Given the description of an element on the screen output the (x, y) to click on. 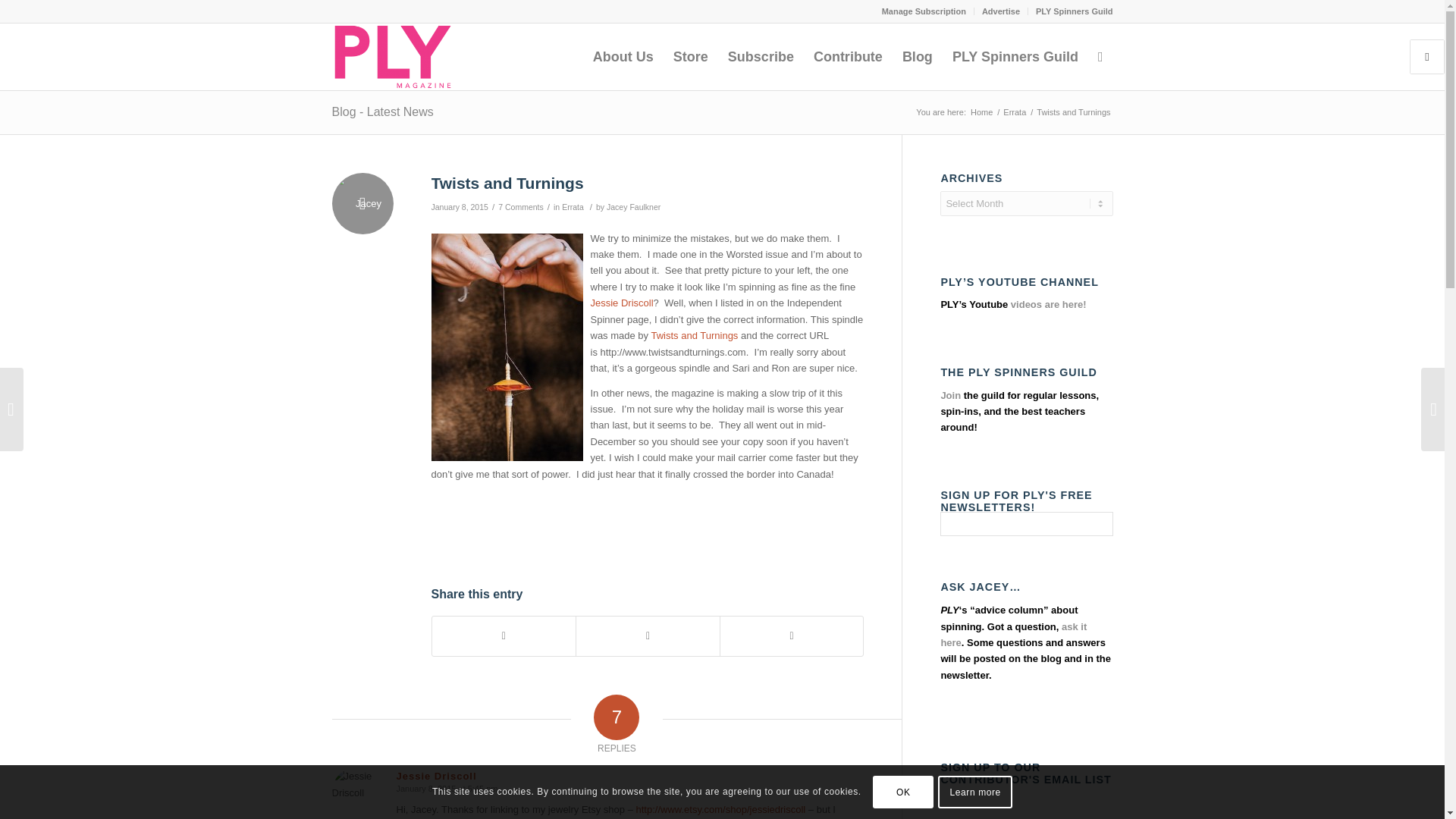
Permanent Link: Blog - Latest News (382, 111)
Jessie Driscoll (620, 302)
Manage Subscription (924, 11)
Jacey Faulkner (634, 206)
7 Comments (520, 206)
PLY Spinners Guild (1014, 56)
PLY Spinners Guild (1073, 11)
Blog - Latest News (382, 111)
Twists and Turnings (694, 335)
Posts by Jacey Faulkner (634, 206)
Home (981, 112)
Errata (572, 206)
Twists and Turnings (506, 182)
Advertise (1000, 11)
PLY Magazine (981, 112)
